Given the description of an element on the screen output the (x, y) to click on. 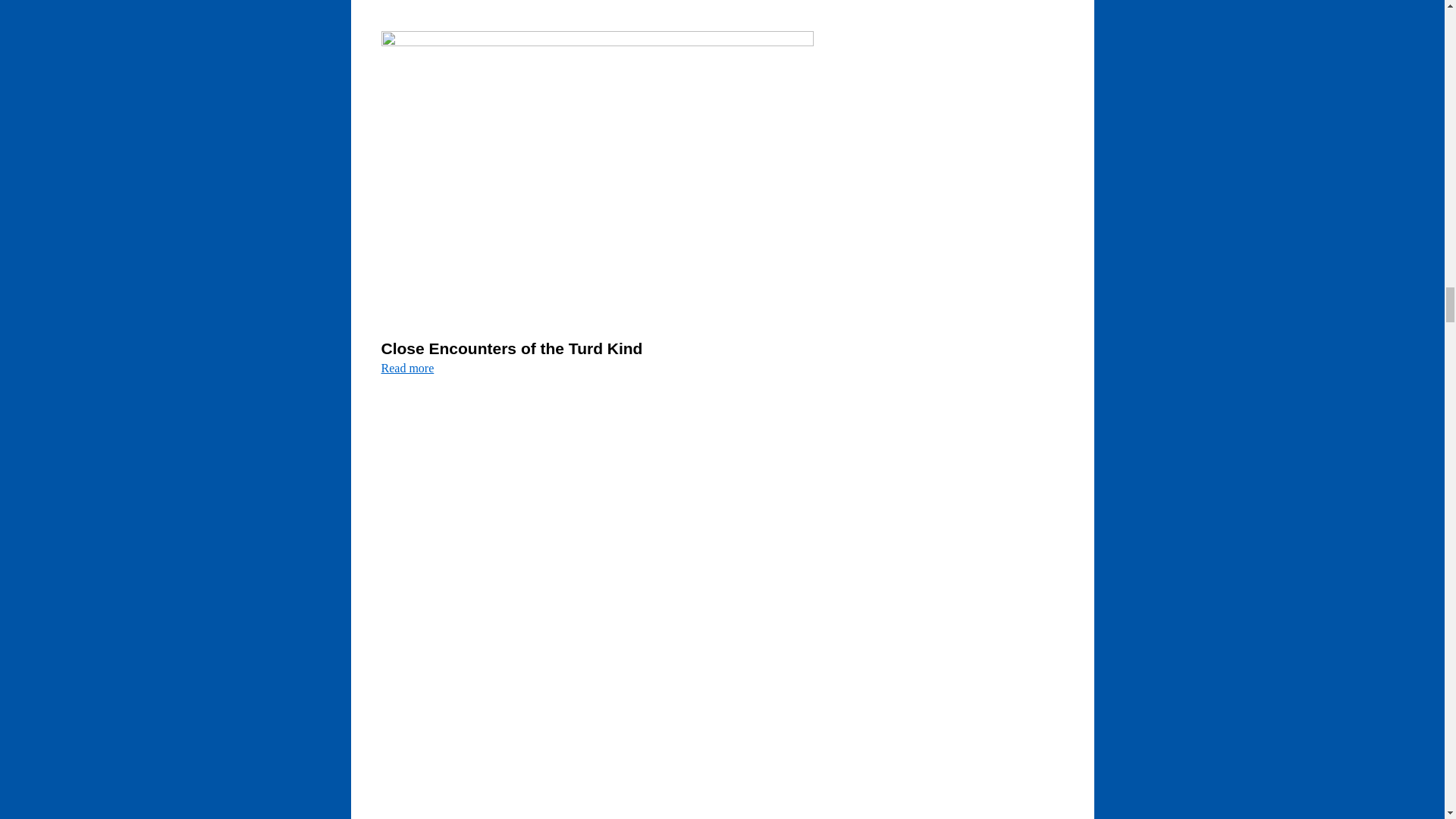
YouTube video player (592, 738)
YouTube video player (592, 514)
